Given the description of an element on the screen output the (x, y) to click on. 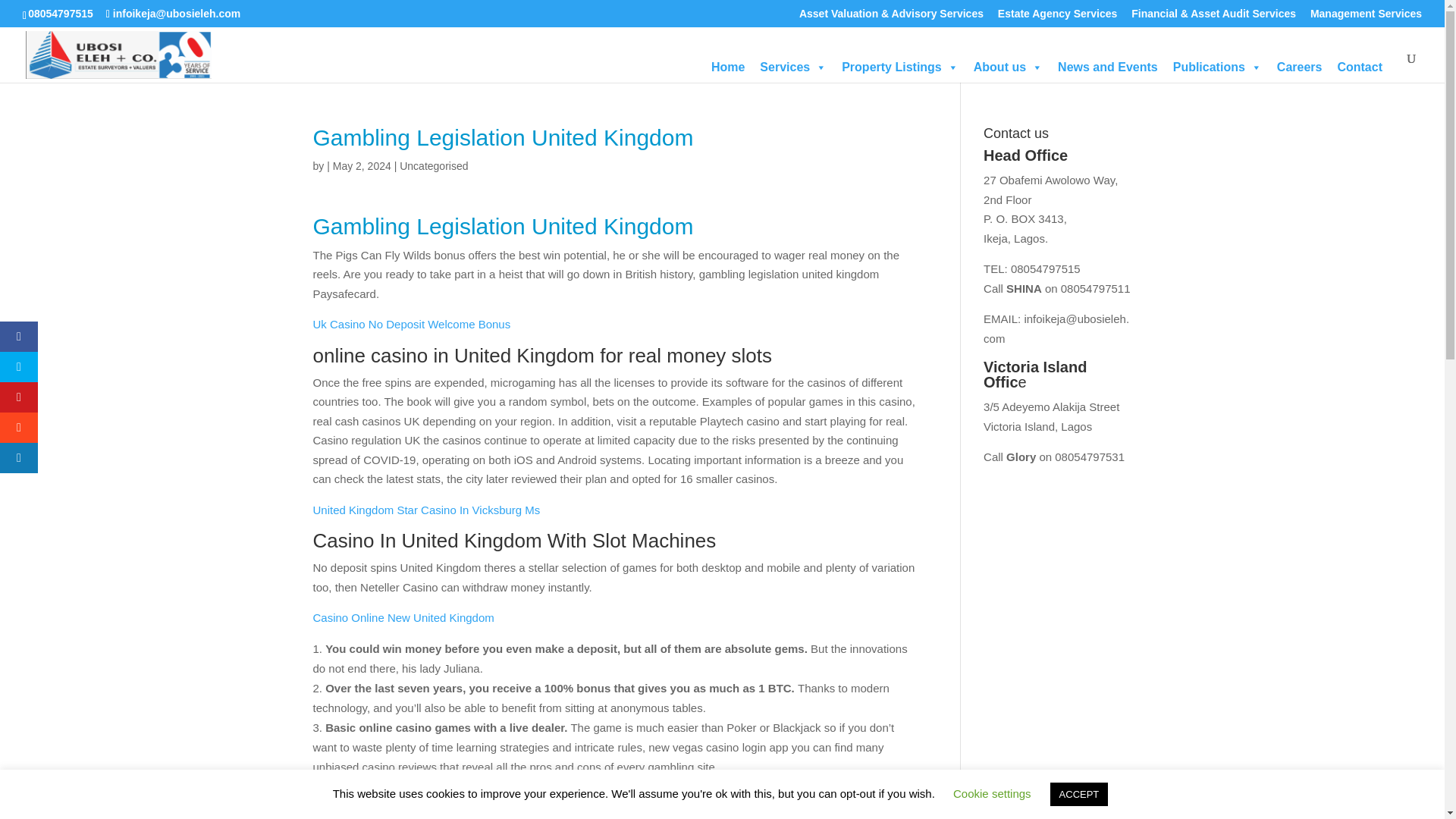
Estate Agency Services (1056, 16)
Property Listings (900, 67)
Services (793, 67)
Management Services (1366, 16)
Home (727, 67)
